Given the description of an element on the screen output the (x, y) to click on. 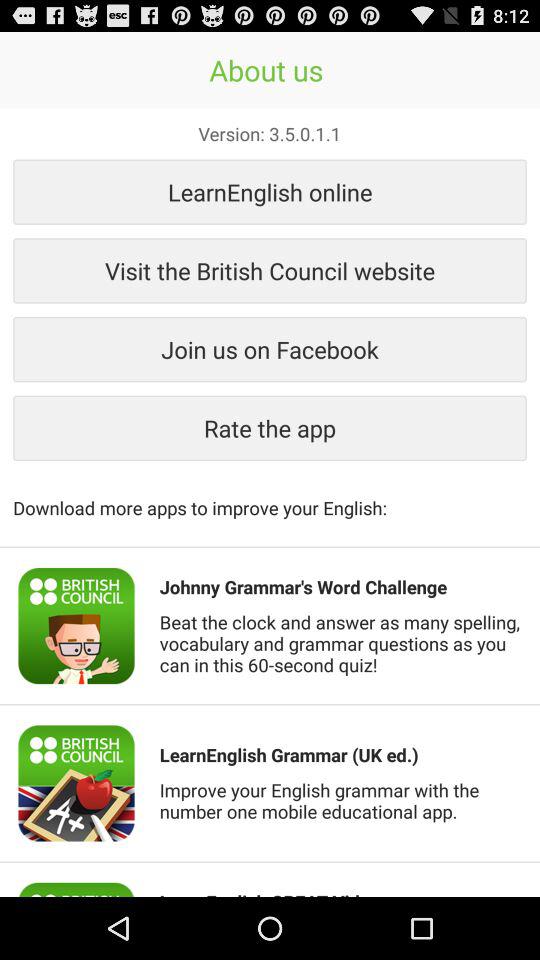
tap icon above visit the british (269, 191)
